Given the description of an element on the screen output the (x, y) to click on. 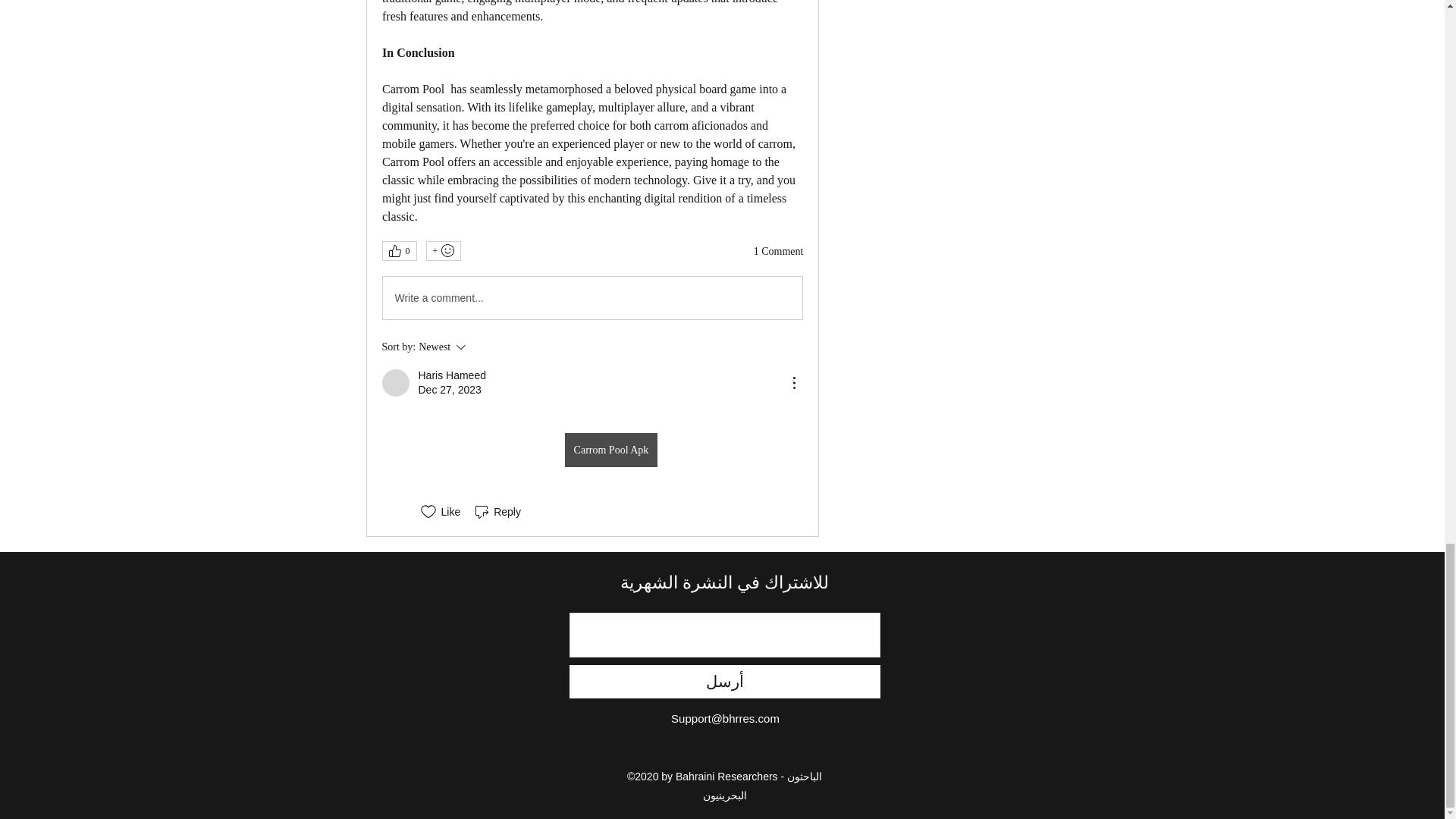
Haris Hameed (452, 375)
1 Comment (778, 251)
Reply (496, 511)
Write a comment... (591, 297)
Haris Hameed (395, 382)
Carrom Pool Apk (487, 347)
